Given the description of an element on the screen output the (x, y) to click on. 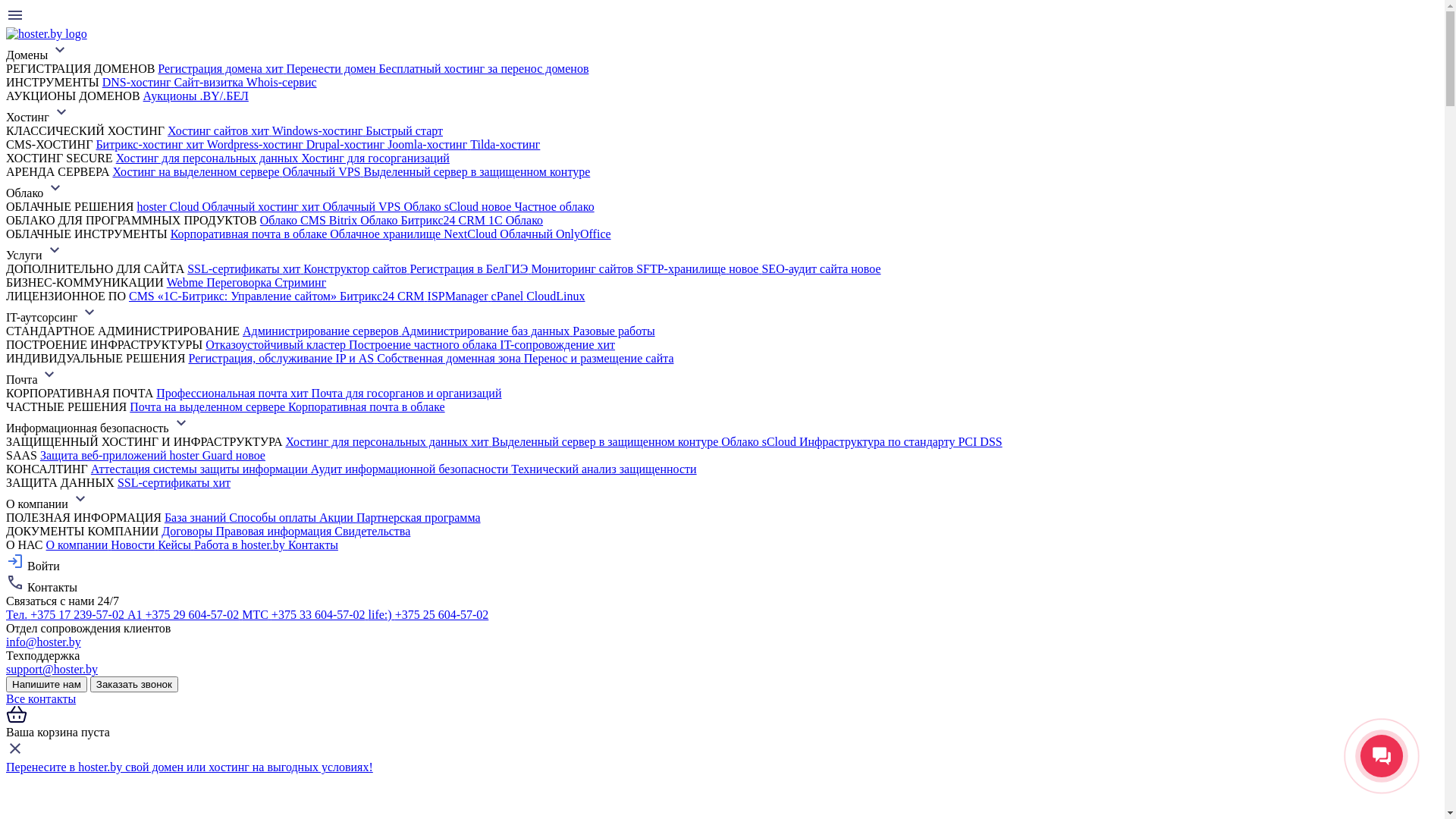
Webme Element type: text (186, 282)
info@hoster.by Element type: text (43, 641)
hoster Cloud Element type: text (168, 206)
support@hoster.by Element type: text (51, 668)
CloudLinux Element type: text (555, 295)
cPanel Element type: text (509, 295)
A1 +375 29 604-57-02 Element type: text (184, 614)
ISPManager Element type: text (459, 295)
life:) +375 25 604-57-02 Element type: text (428, 614)
